Given the description of an element on the screen output the (x, y) to click on. 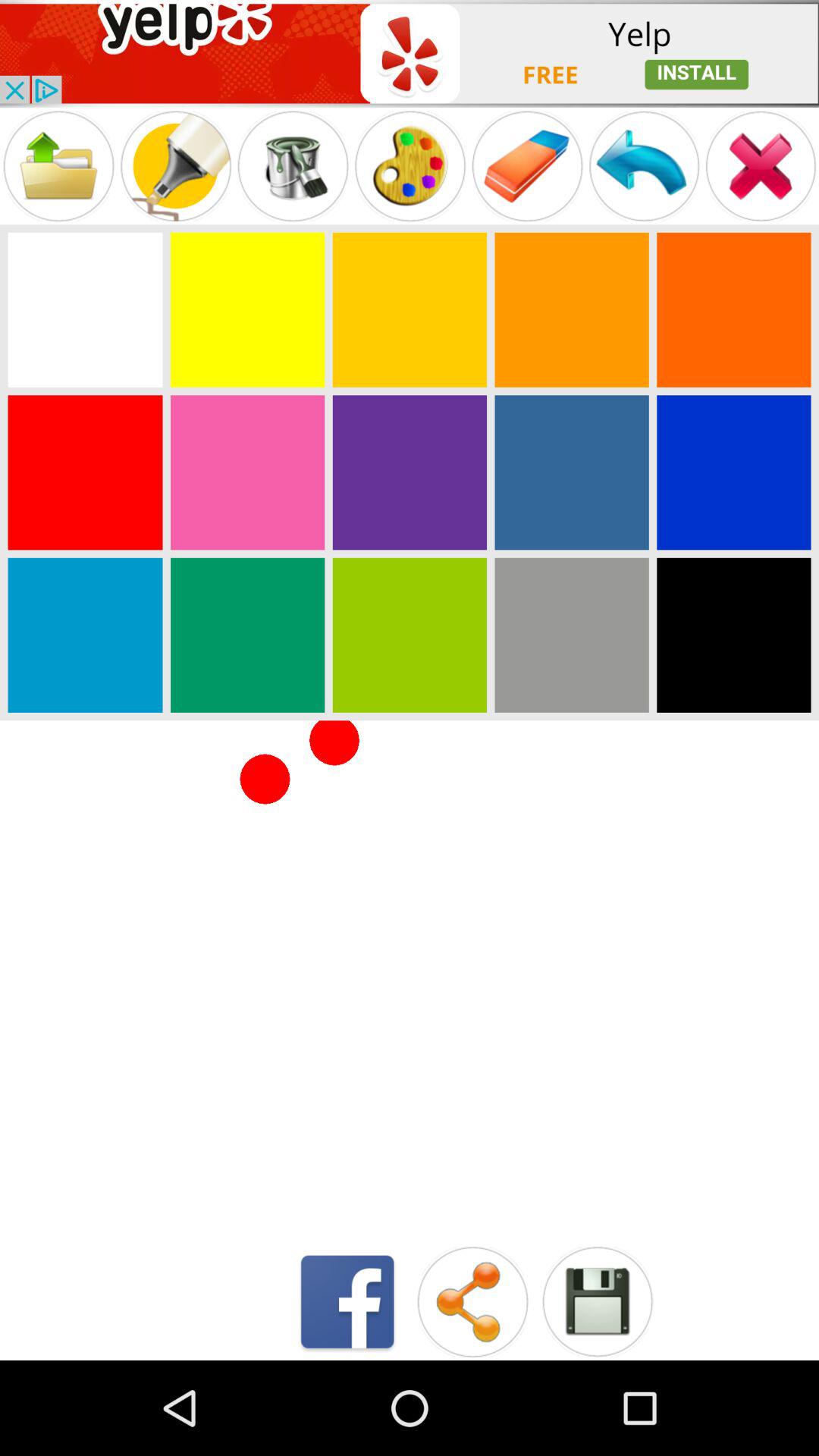
game colour page (571, 472)
